Given the description of an element on the screen output the (x, y) to click on. 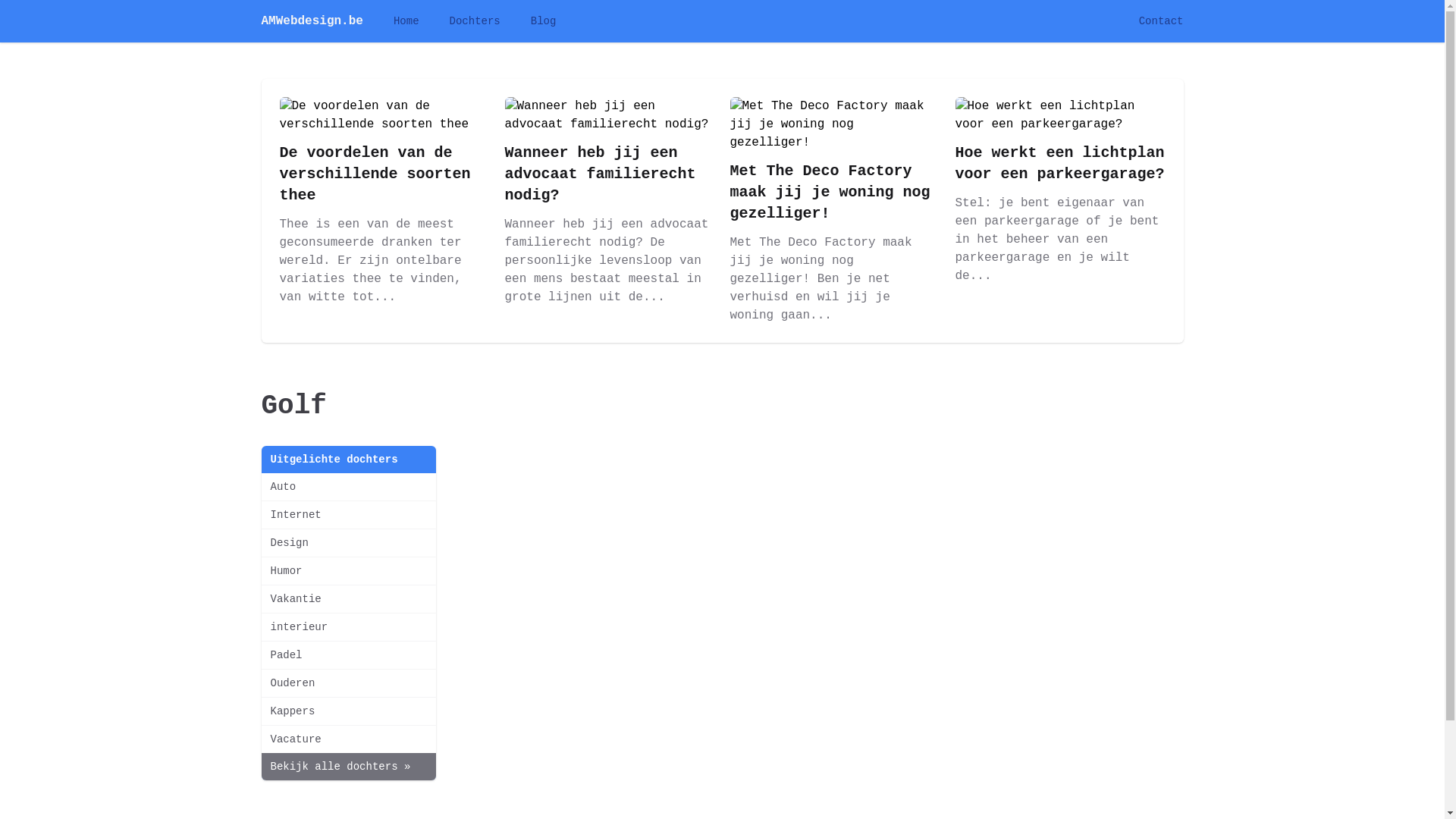
Ouderen Element type: text (347, 682)
Vakantie Element type: text (347, 598)
AMWebdesign.be Element type: text (311, 21)
Home Element type: text (406, 20)
interieur Element type: text (347, 626)
Kappers Element type: text (347, 710)
Contact Element type: text (1161, 20)
Humor Element type: text (347, 570)
Vacature Element type: text (347, 739)
Design Element type: text (347, 542)
Internet Element type: text (347, 514)
Dochters Element type: text (474, 20)
Auto Element type: text (347, 486)
Padel Element type: text (347, 654)
Blog Element type: text (543, 20)
